Given the description of an element on the screen output the (x, y) to click on. 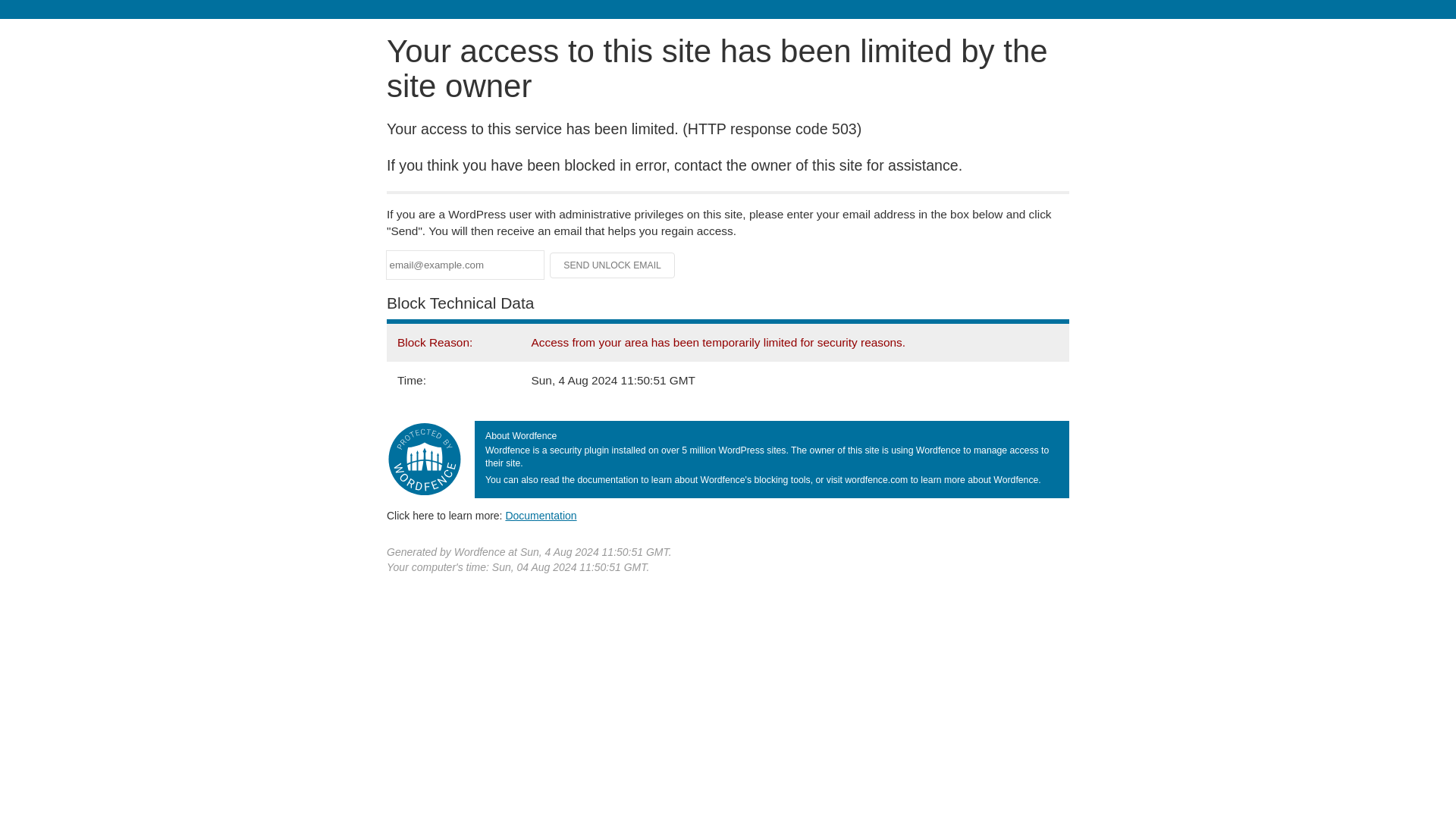
Send Unlock Email (612, 265)
Send Unlock Email (612, 265)
Documentation (540, 515)
